Given the description of an element on the screen output the (x, y) to click on. 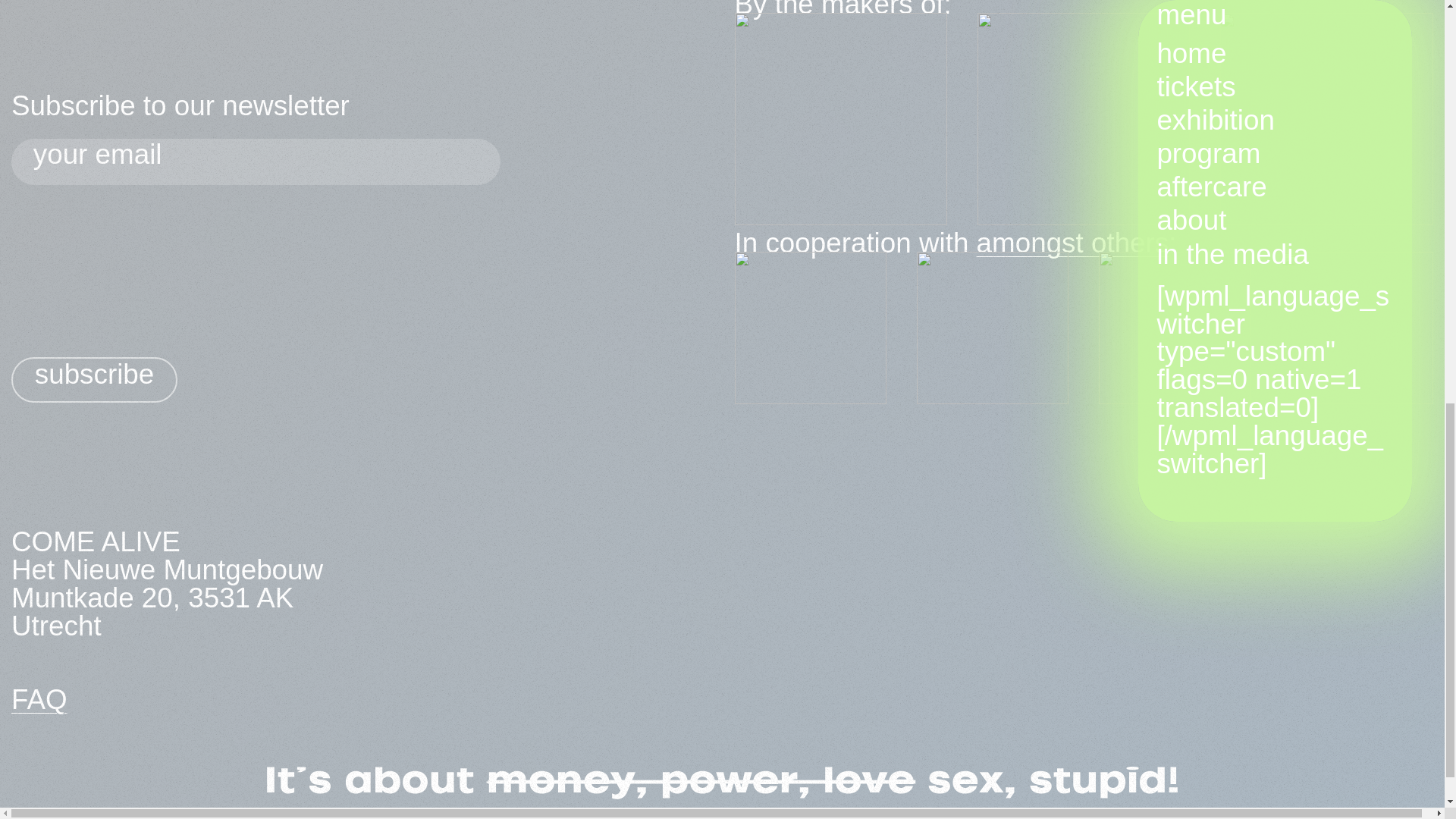
amongst others (1072, 242)
subscribe (94, 379)
FAQ (38, 698)
